Given the description of an element on the screen output the (x, y) to click on. 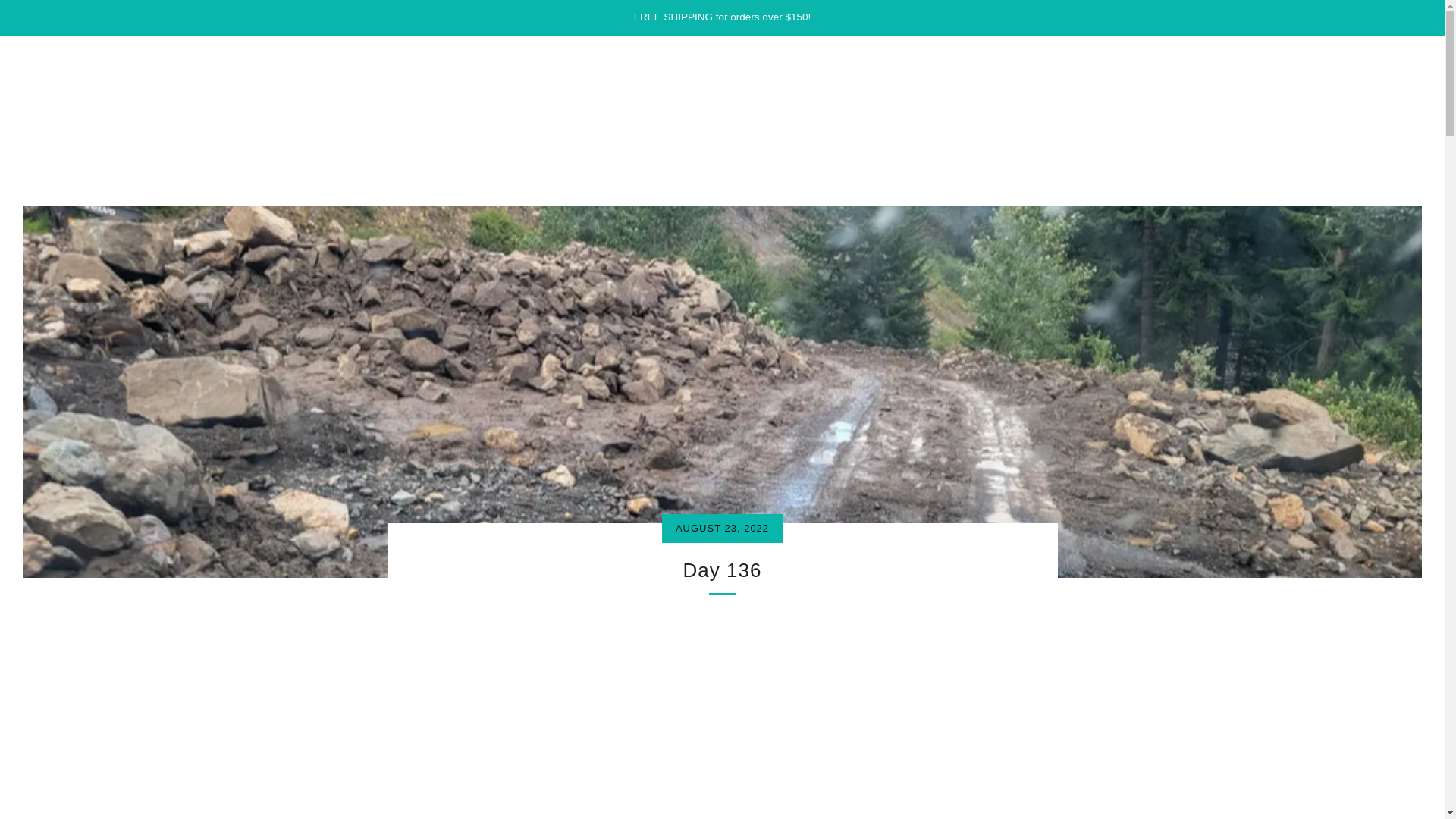
ADVENTURE BLOGS (901, 161)
SEARCH (1414, 53)
FAQS (662, 161)
LOG IN (1302, 55)
ABOUT (607, 161)
CONTACT (725, 161)
FIND US (798, 161)
HOME (498, 161)
SHOP (552, 161)
